Given the description of an element on the screen output the (x, y) to click on. 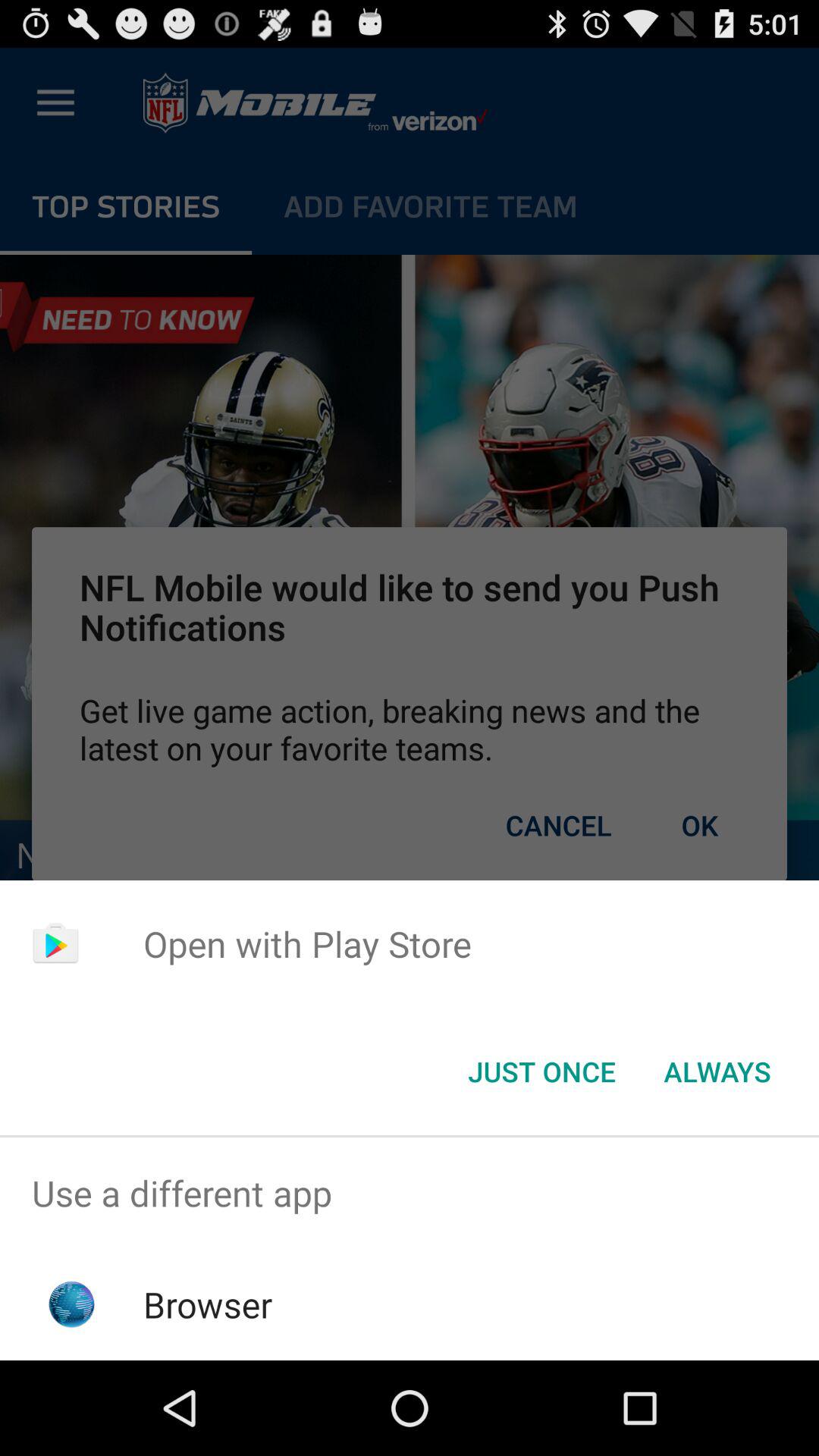
open just once (541, 1071)
